Given the description of an element on the screen output the (x, y) to click on. 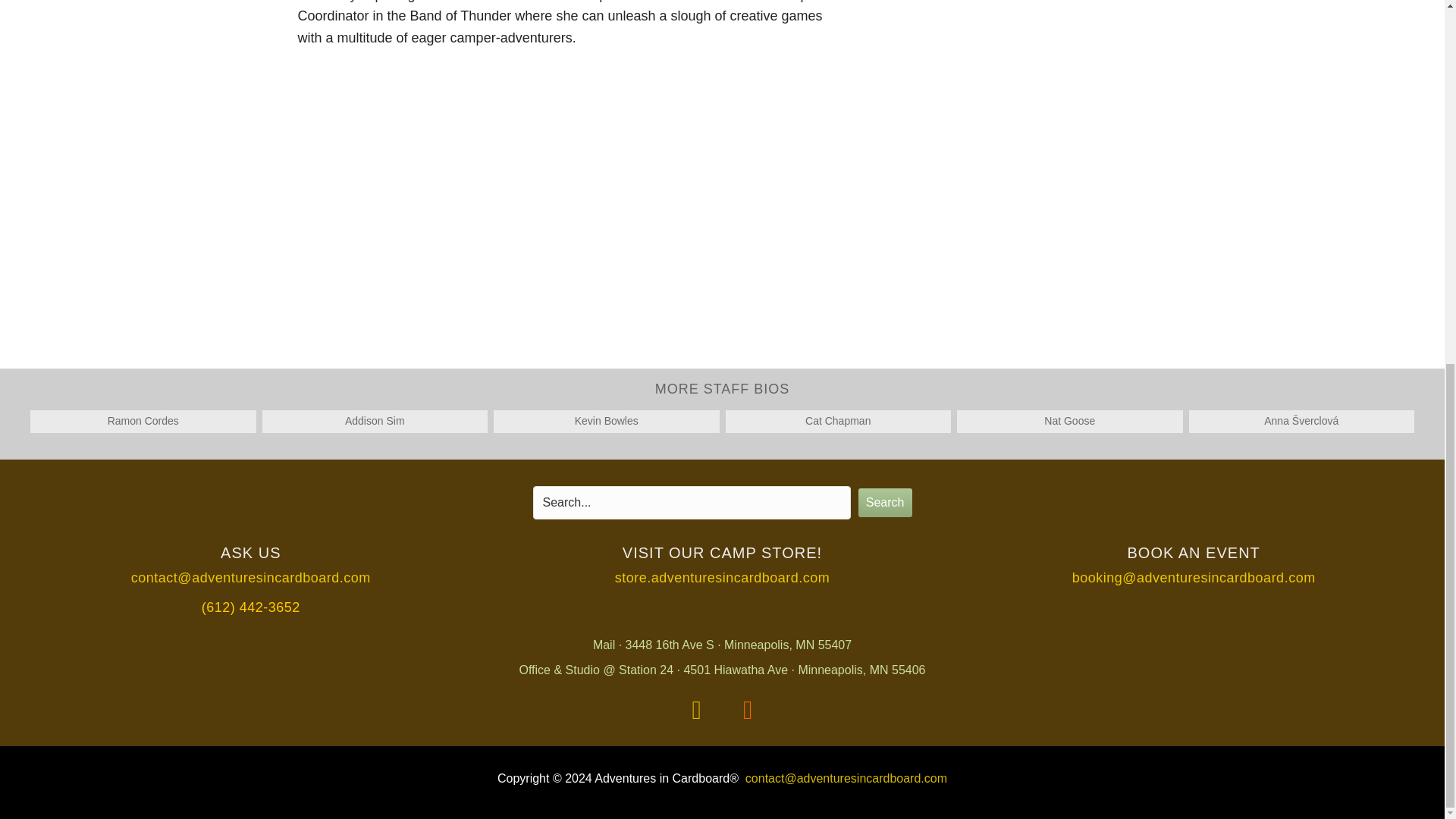
Ramon Cordes (143, 420)
Addison Sim (374, 420)
Nat Goose (1068, 420)
Kevin Bowles (607, 420)
Cat Chapman (837, 420)
Cat Chapman (837, 420)
store.adventuresincardboard.com (721, 577)
Ramon Cordes (143, 420)
Nat Goose (1068, 420)
Addison Sim (374, 420)
Kevin Bowles (607, 420)
Search (885, 502)
